Given the description of an element on the screen output the (x, y) to click on. 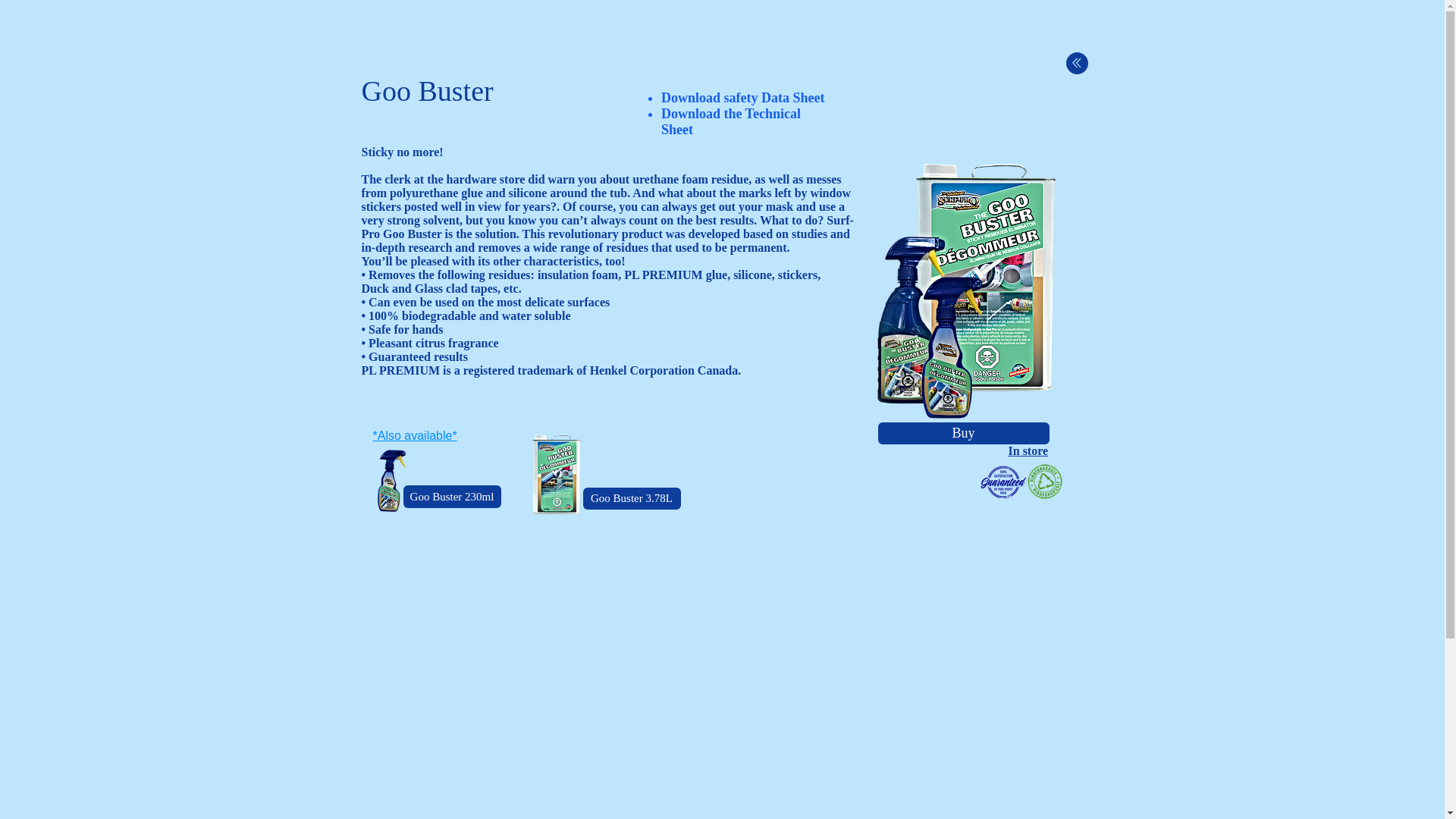
Download the Technical Sheet (730, 121)
Goo Buster 230ml (451, 496)
In store (1028, 450)
Buy (963, 433)
Goo Buster 3.78L (630, 498)
Download safety Data Sheet (743, 97)
